Given the description of an element on the screen output the (x, y) to click on. 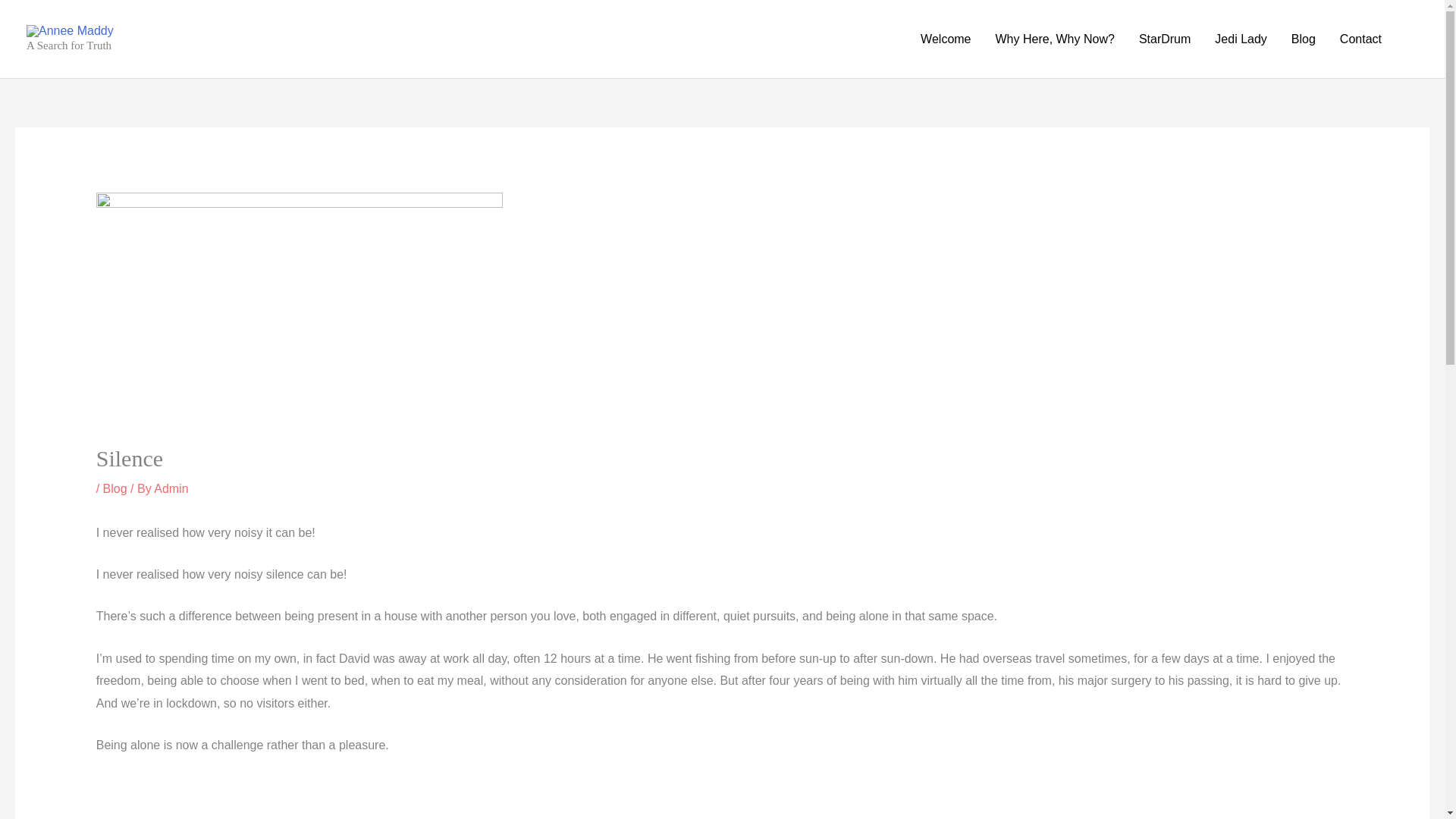
Why Here, Why Now? (1053, 39)
Admin (170, 488)
View all posts by Admin (170, 488)
StarDrum (1164, 39)
Welcome (945, 39)
Jedi Lady (1240, 39)
Blog (115, 488)
Blog (1303, 39)
Contact (1360, 39)
